Given the description of an element on the screen output the (x, y) to click on. 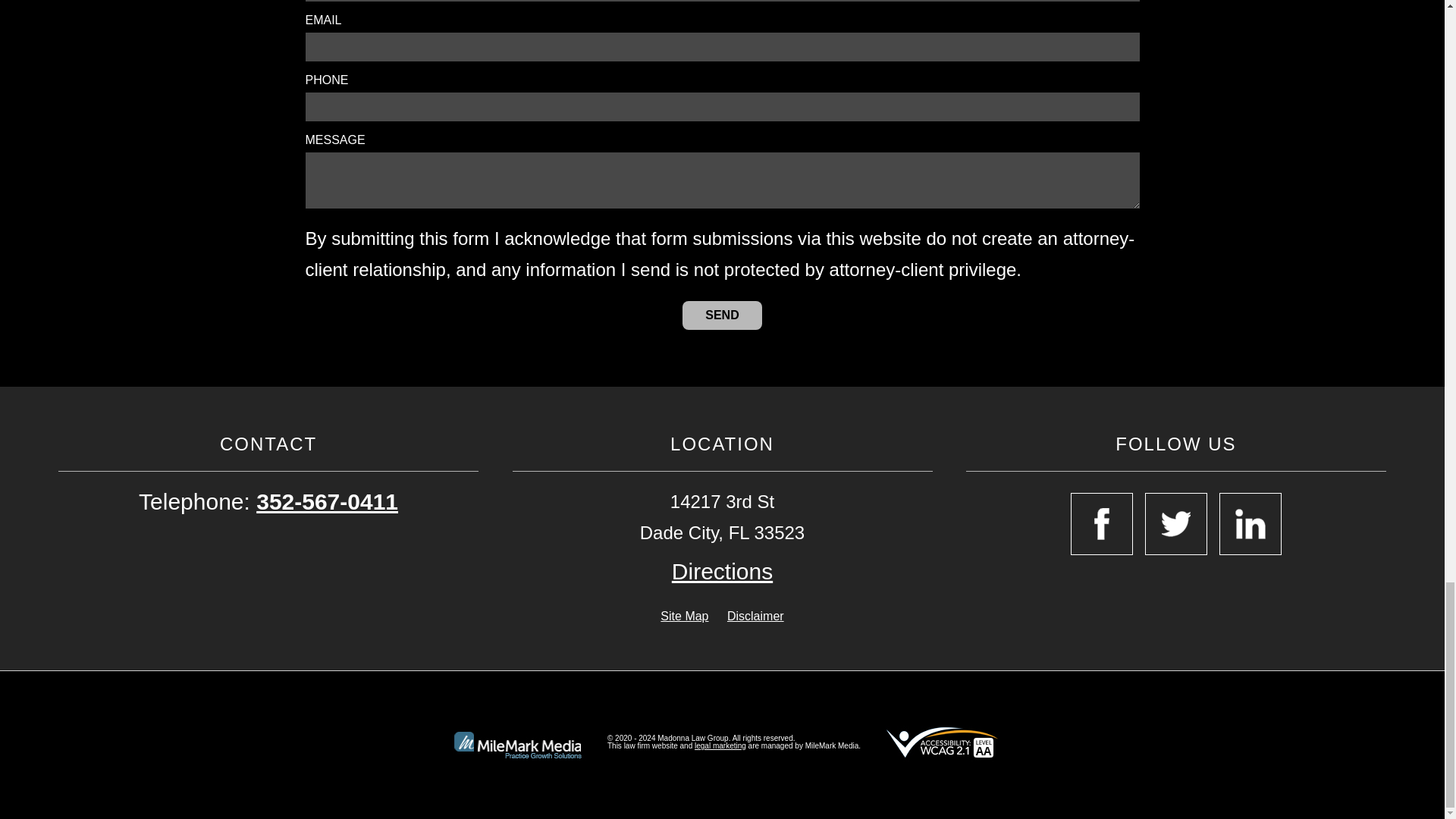
Send (721, 315)
Open Facebook in a New Window (1101, 524)
Open Linkedin in a New Window (1250, 524)
Open Twitter in a New Window (1175, 524)
Open MileMarkMedia.com in a New Window (719, 746)
Open Google Map in a New Window (722, 571)
